Given the description of an element on the screen output the (x, y) to click on. 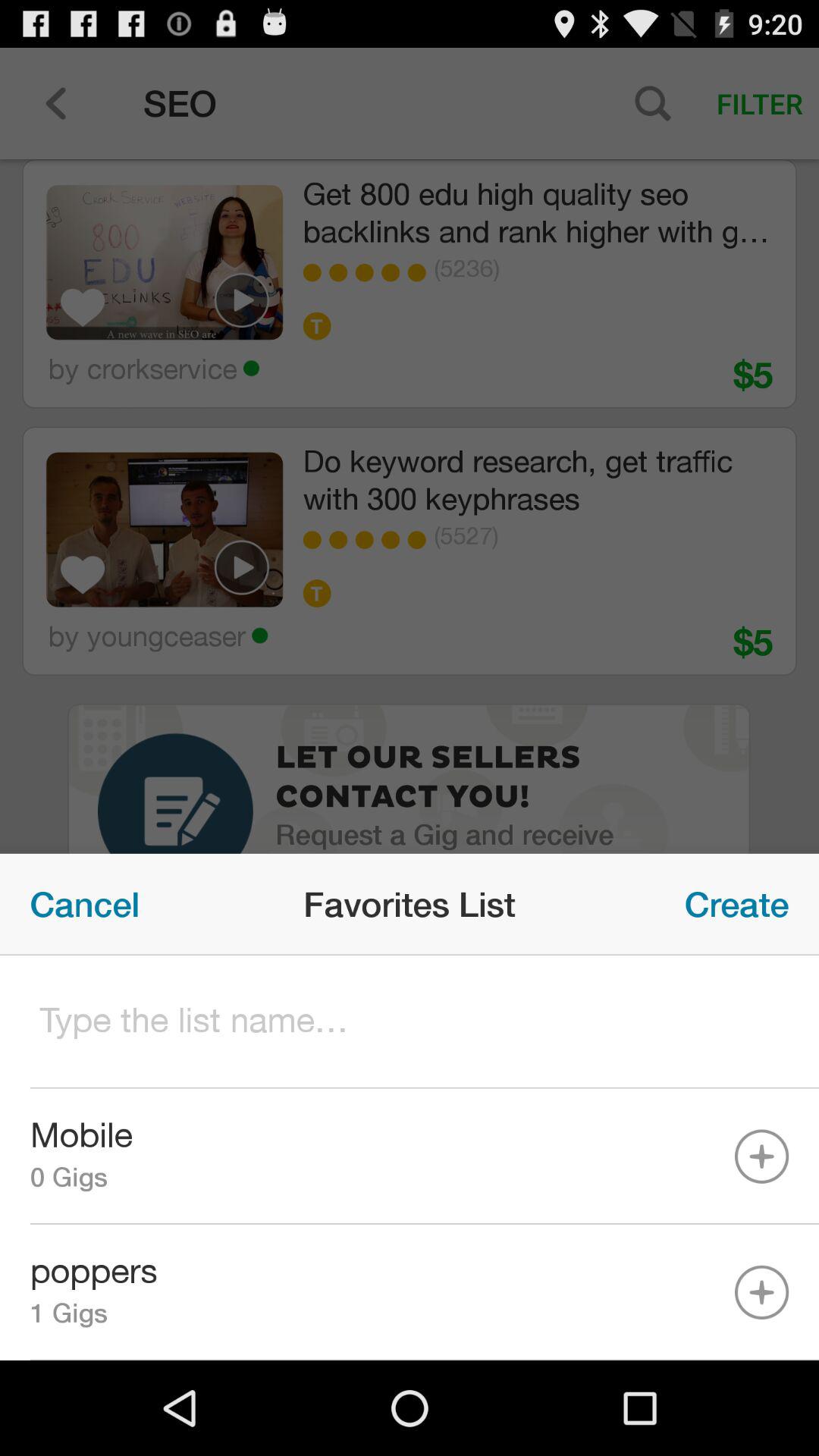
turn on the create on the right (736, 903)
